Given the description of an element on the screen output the (x, y) to click on. 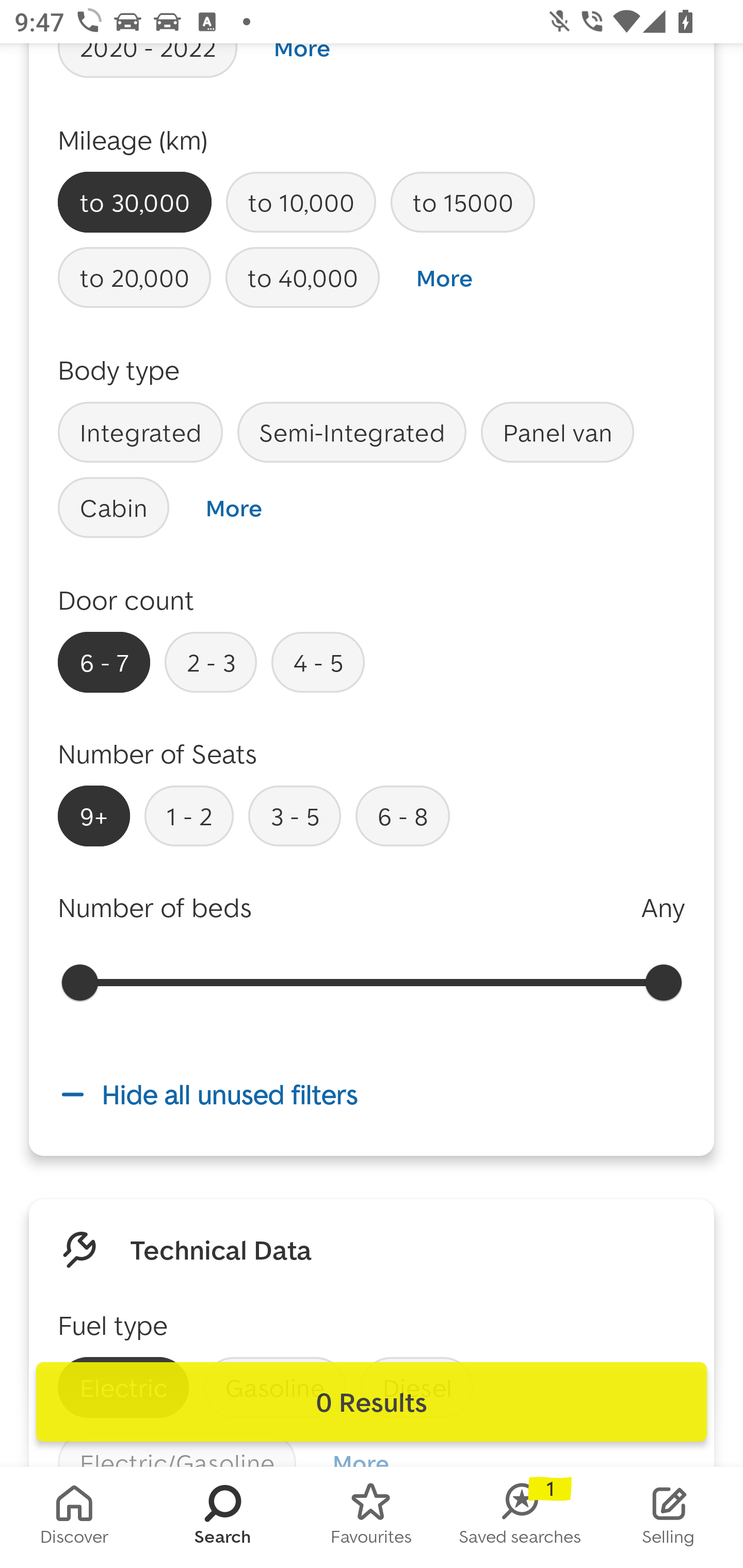
Mileage (km) (132, 139)
to 30,000 (134, 202)
to 10,000 (300, 202)
to 15000 (462, 202)
to 20,000 (134, 277)
to 40,000 (302, 277)
More (444, 277)
Body type (118, 369)
Integrated (139, 431)
Semi-Integrated (351, 431)
Panel van (556, 431)
Cabin (113, 506)
More (233, 507)
Door count (125, 599)
6 - 7 (103, 662)
2 - 3 (210, 662)
4 - 5 (317, 662)
Number of Seats (157, 753)
9+ (93, 815)
1 - 2 (189, 815)
3 - 5 (294, 815)
6 - 8 (402, 815)
Number of beds (154, 907)
Any (663, 907)
0.0 Range start, 0 8000.0 Range end, 8000 (371, 982)
Hide all unused filters (371, 1094)
Technical Data (221, 1249)
Fuel type (112, 1324)
0 Results (371, 1401)
HOMESCREEN Discover (74, 1517)
SEARCH Search (222, 1517)
FAVORITES Favourites (371, 1517)
SAVED_SEARCHES Saved searches 1 (519, 1517)
STOCK_LIST Selling (668, 1517)
